Given the description of an element on the screen output the (x, y) to click on. 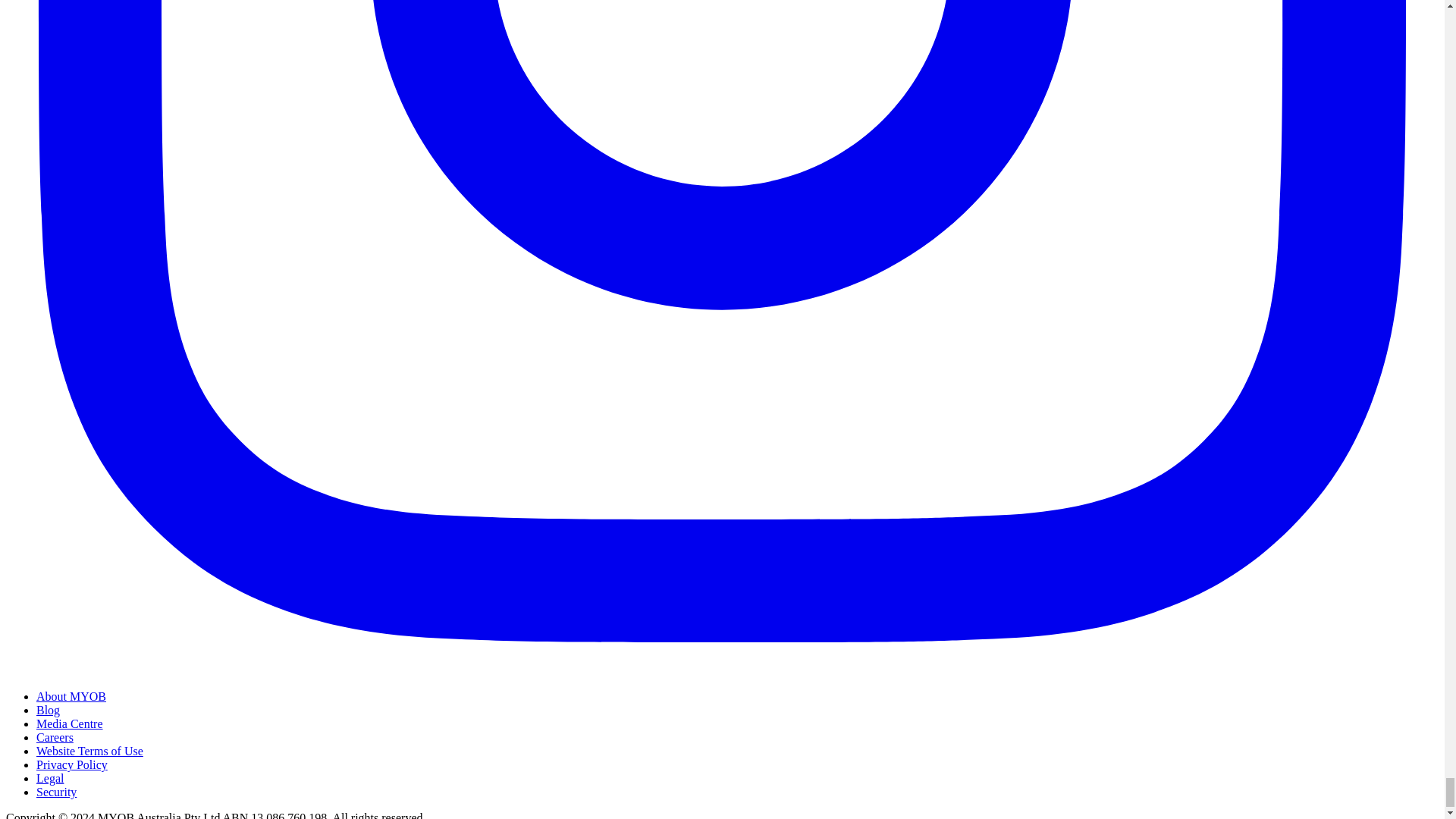
Media Centre (69, 723)
Blog (47, 709)
Careers (55, 737)
Legal (50, 778)
About MYOB (71, 696)
Website Terms of Use (89, 750)
Privacy Policy (71, 764)
Security (56, 791)
